Given the description of an element on the screen output the (x, y) to click on. 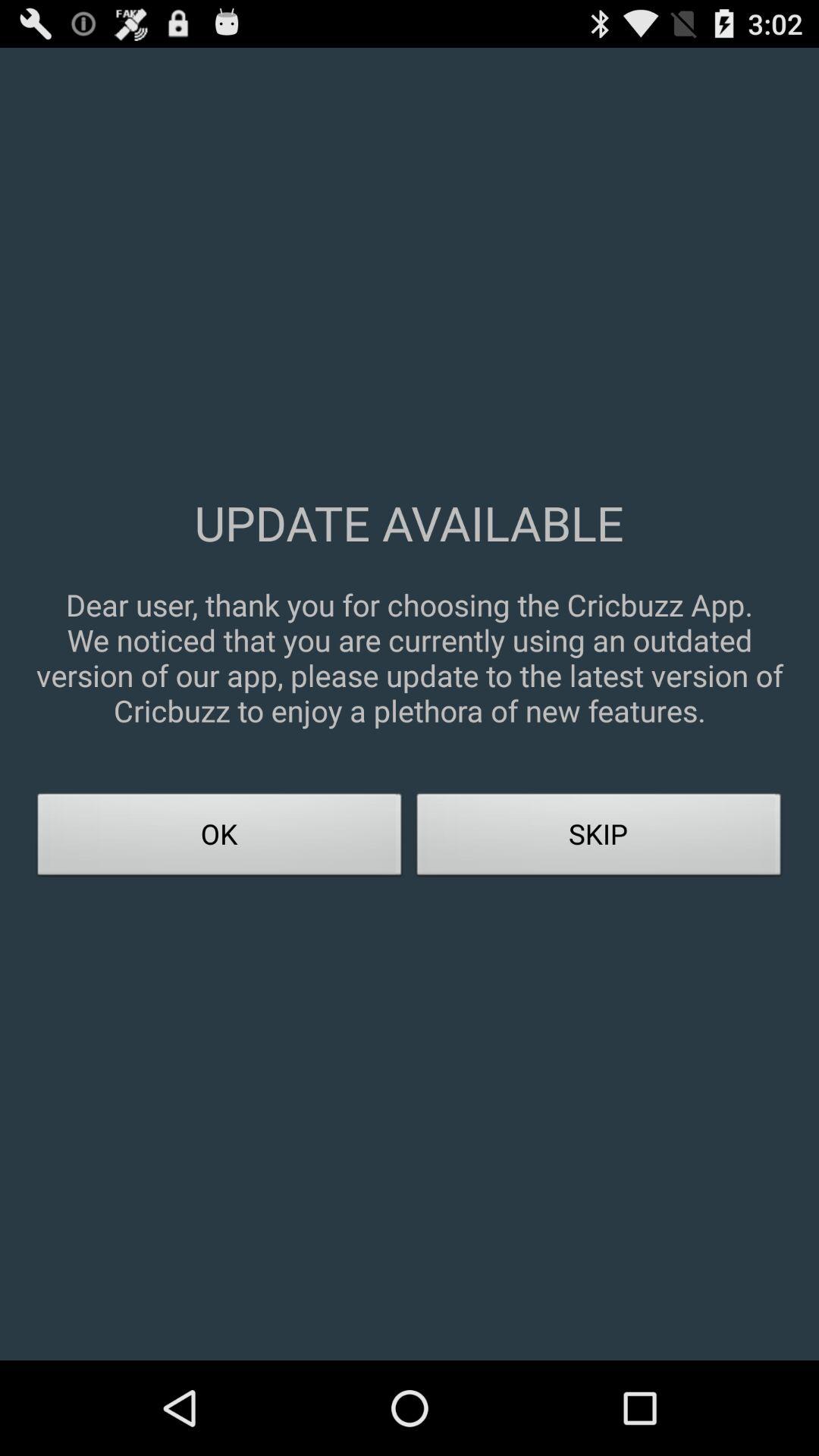
turn off skip item (598, 838)
